Given the description of an element on the screen output the (x, y) to click on. 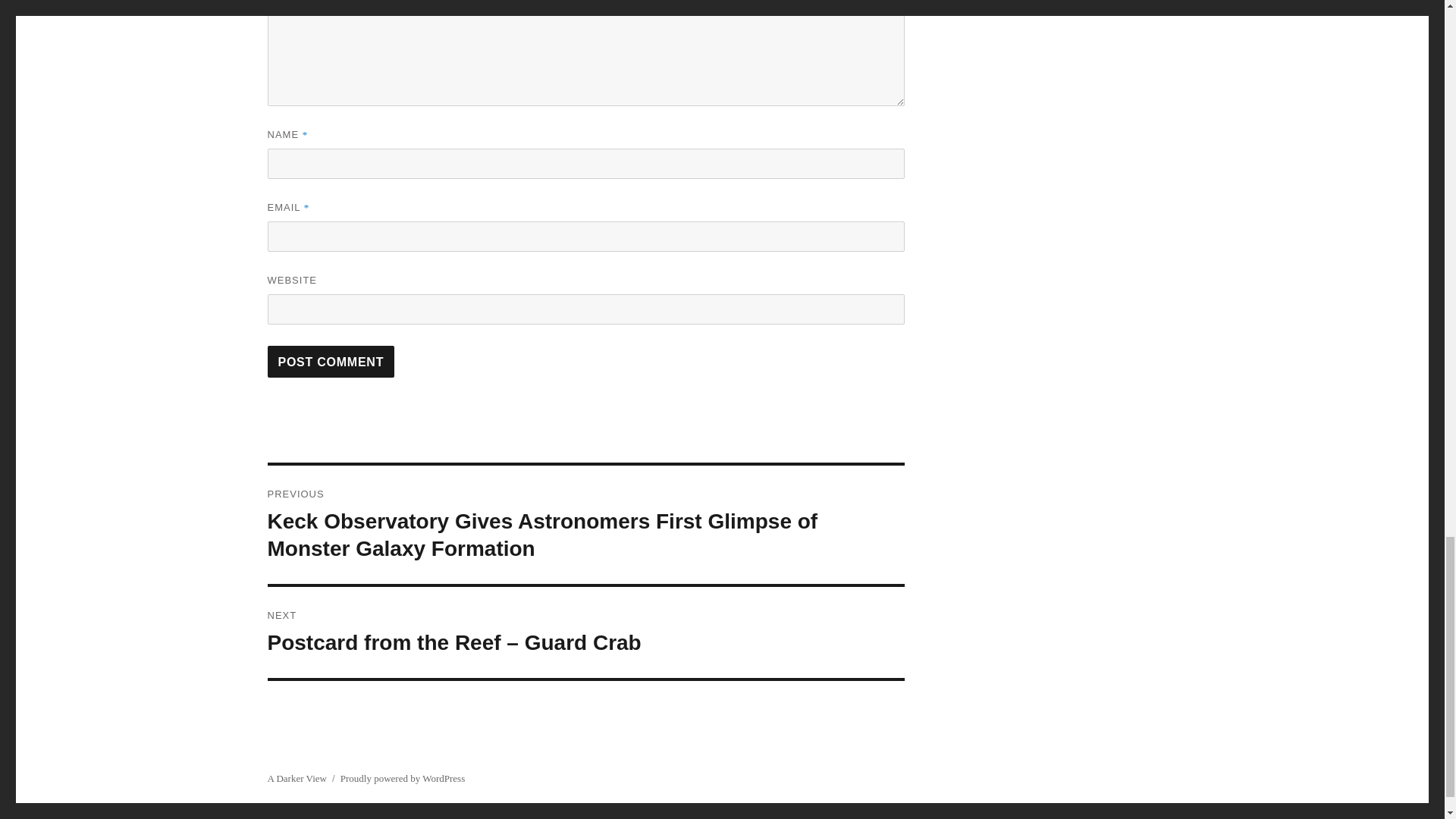
Post Comment (330, 361)
Post Comment (330, 361)
